Given the description of an element on the screen output the (x, y) to click on. 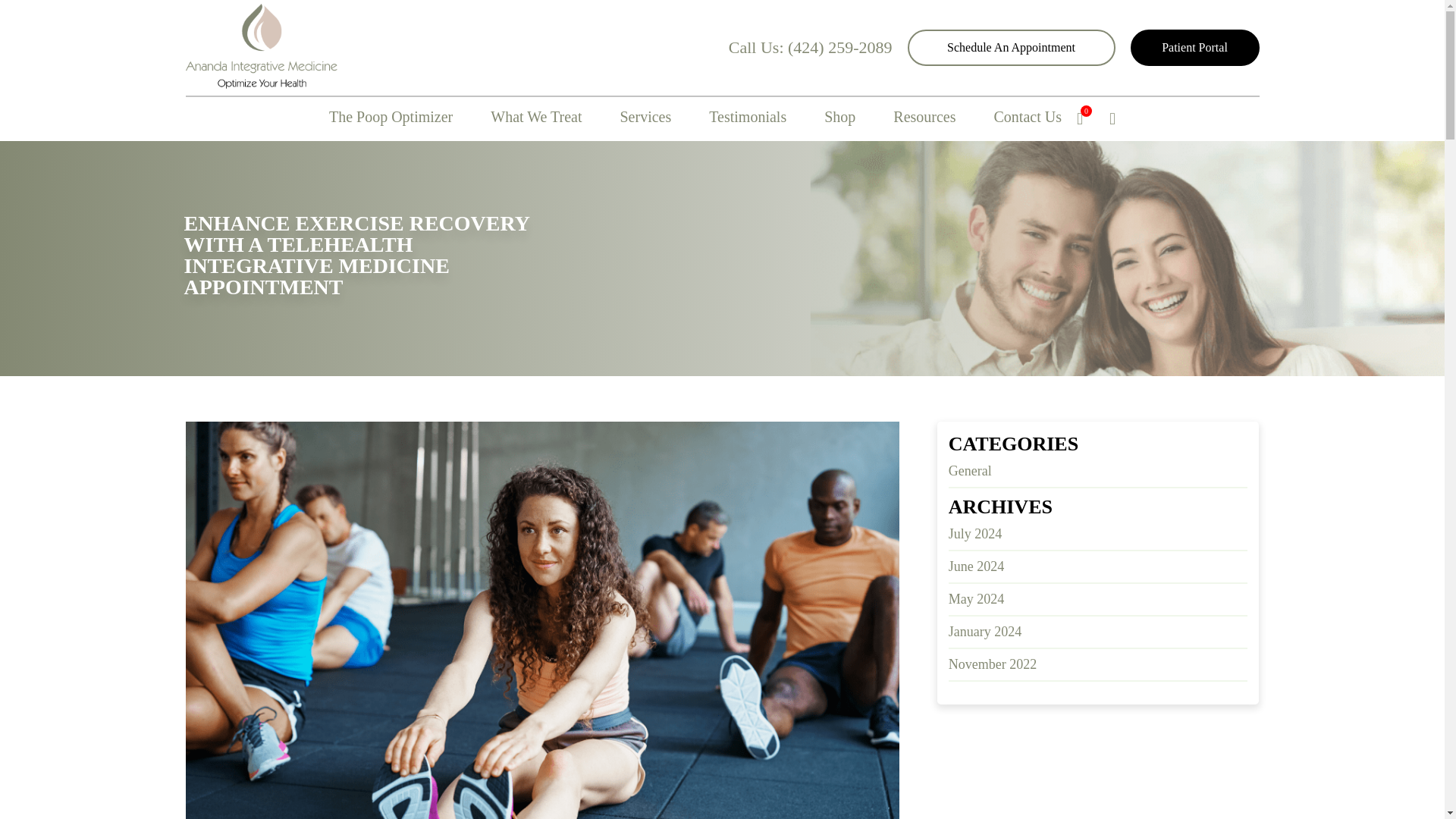
Services (645, 118)
Patient Portal (1194, 47)
The Poop Optimizer (390, 118)
View your shopping cart (1085, 118)
Schedule An Appointment (1011, 47)
What We Treat (535, 118)
